Given the description of an element on the screen output the (x, y) to click on. 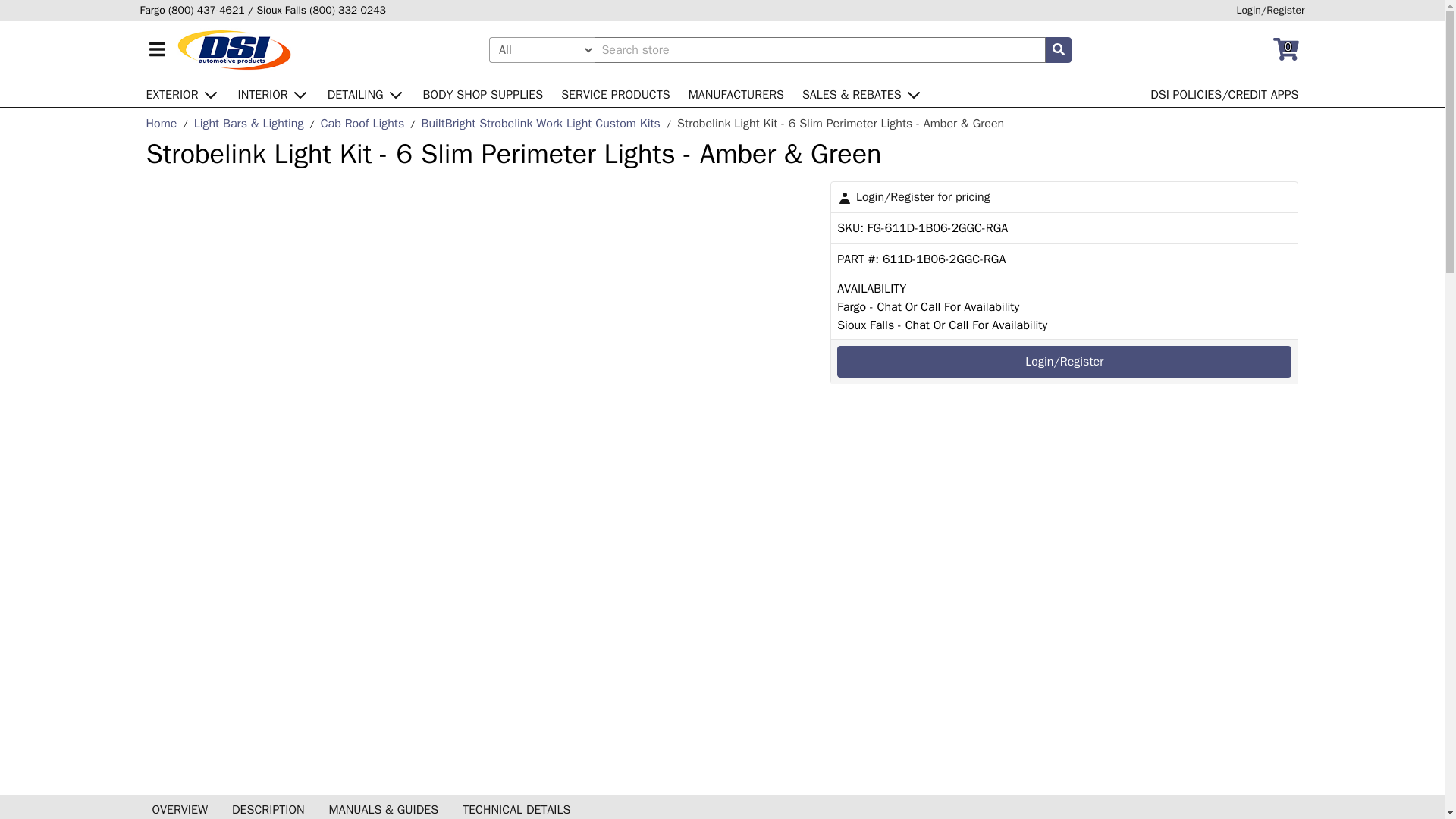
EXTERIOR (182, 93)
BODY SHOP SUPPLIES (483, 93)
0 (1285, 49)
SERVICE PRODUCTS (615, 93)
DETAILING (365, 93)
MANUFACTURERS (736, 93)
Search (1058, 49)
INTERIOR (273, 93)
